Given the description of an element on the screen output the (x, y) to click on. 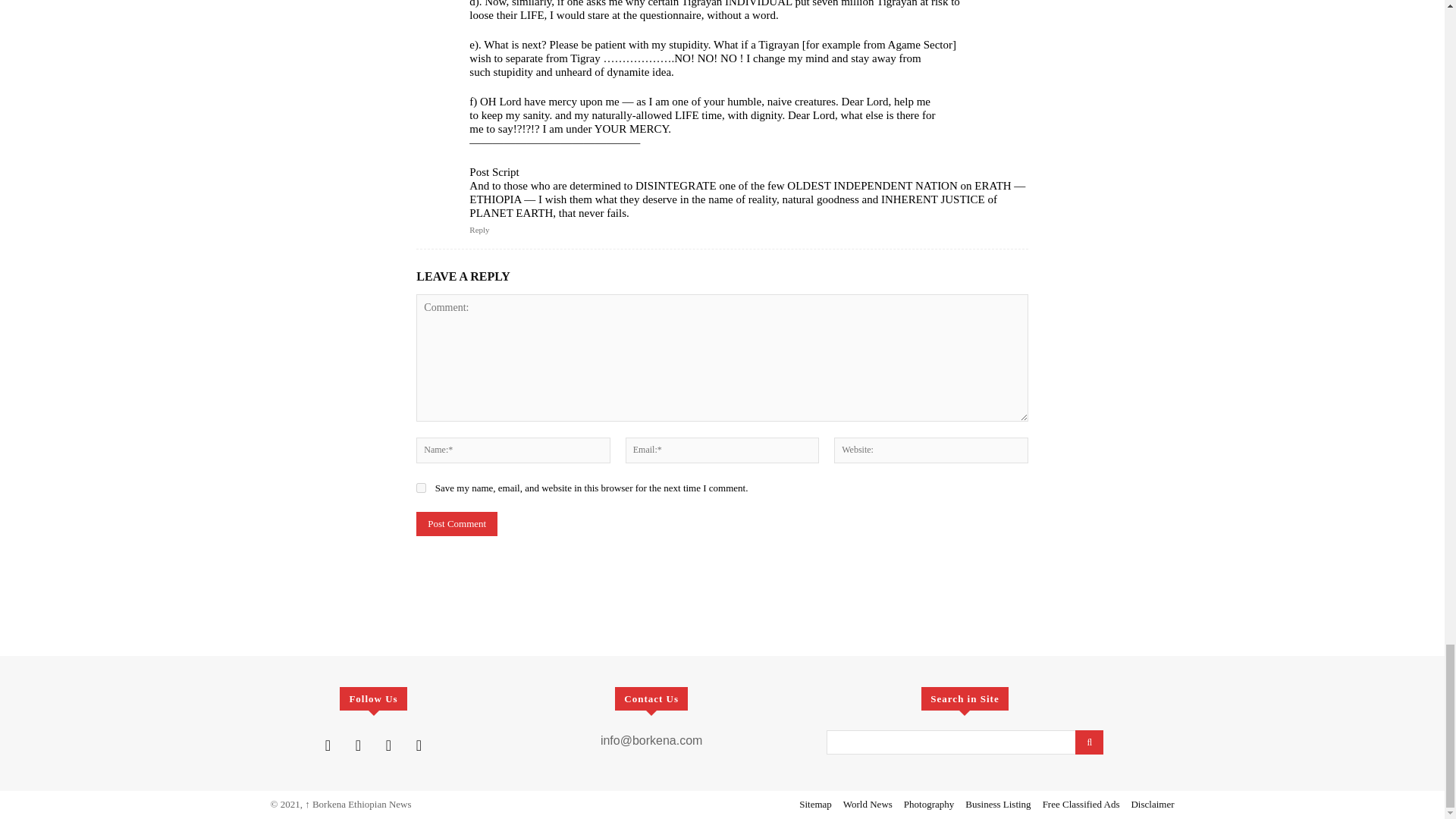
yes (421, 488)
Post Comment (456, 523)
